Given the description of an element on the screen output the (x, y) to click on. 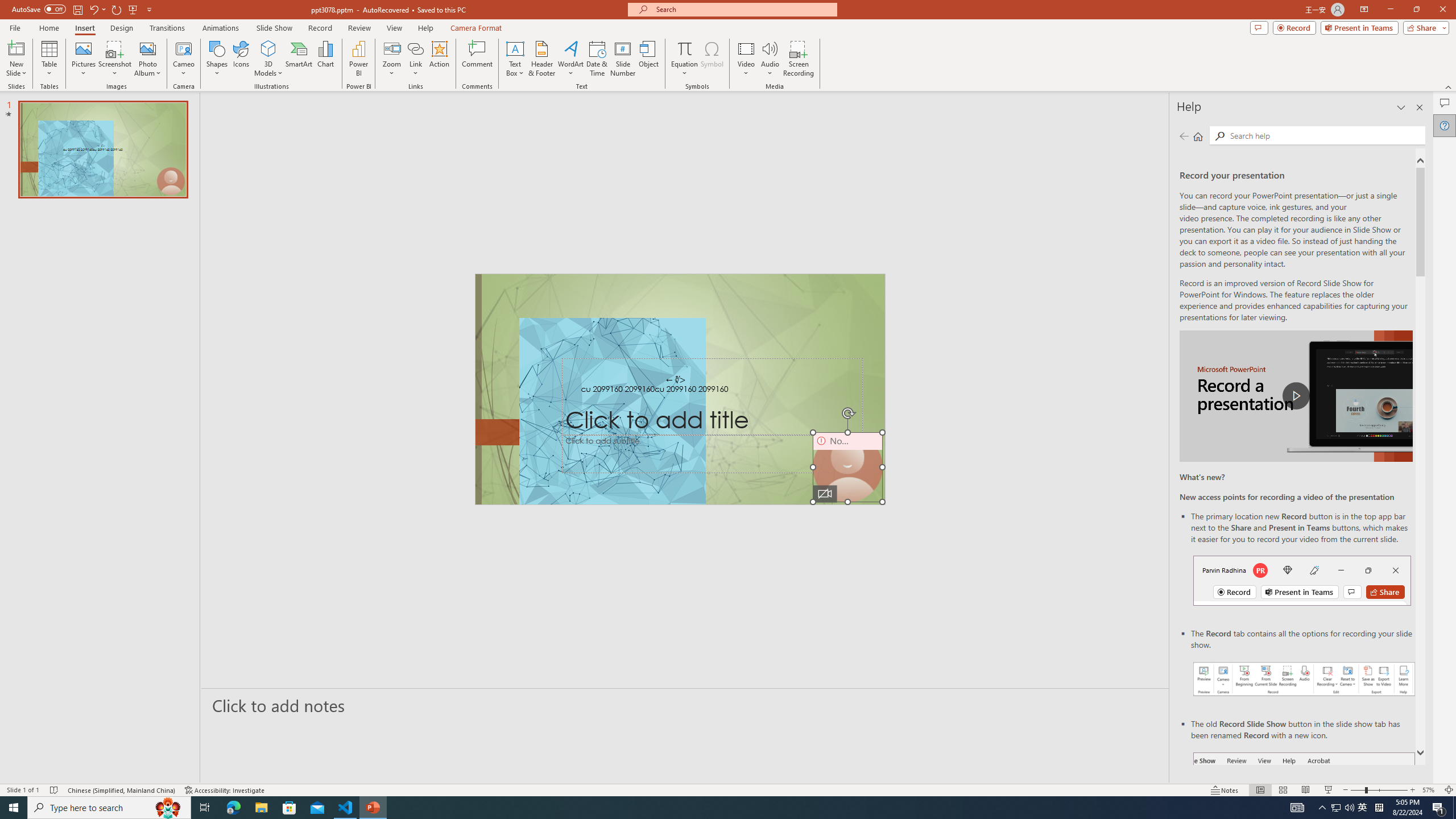
An abstract genetic concept (680, 389)
Date & Time... (596, 58)
New Photo Album... (147, 48)
Subtitle TextBox (712, 453)
Pictures (83, 58)
Link (415, 58)
Cameo (183, 48)
Header & Footer... (541, 58)
